Given the description of an element on the screen output the (x, y) to click on. 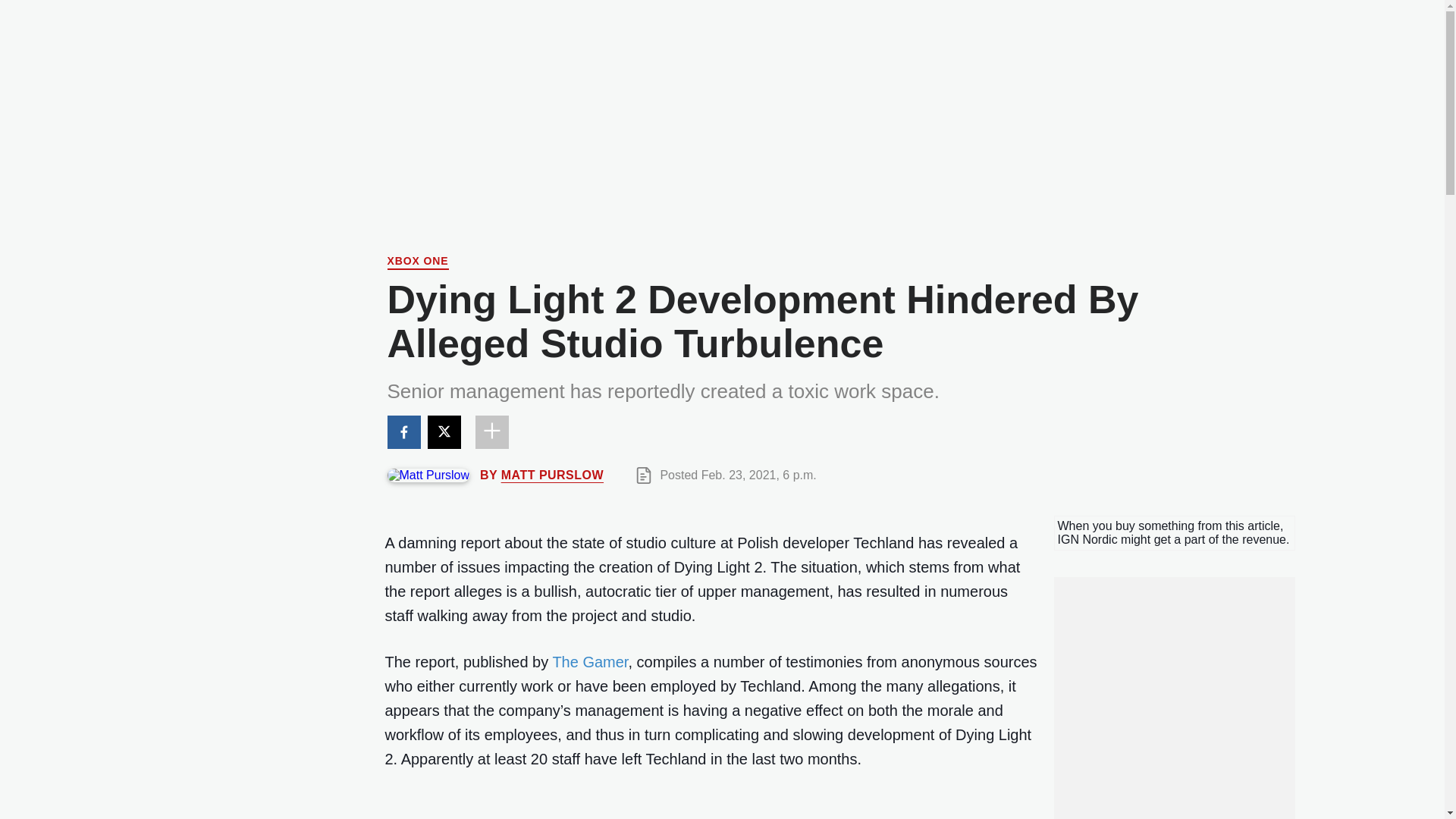
XBOX ONE (417, 262)
MATT PURSLOW (552, 474)
Xbox One (417, 262)
The Gamer (589, 661)
